Given the description of an element on the screen output the (x, y) to click on. 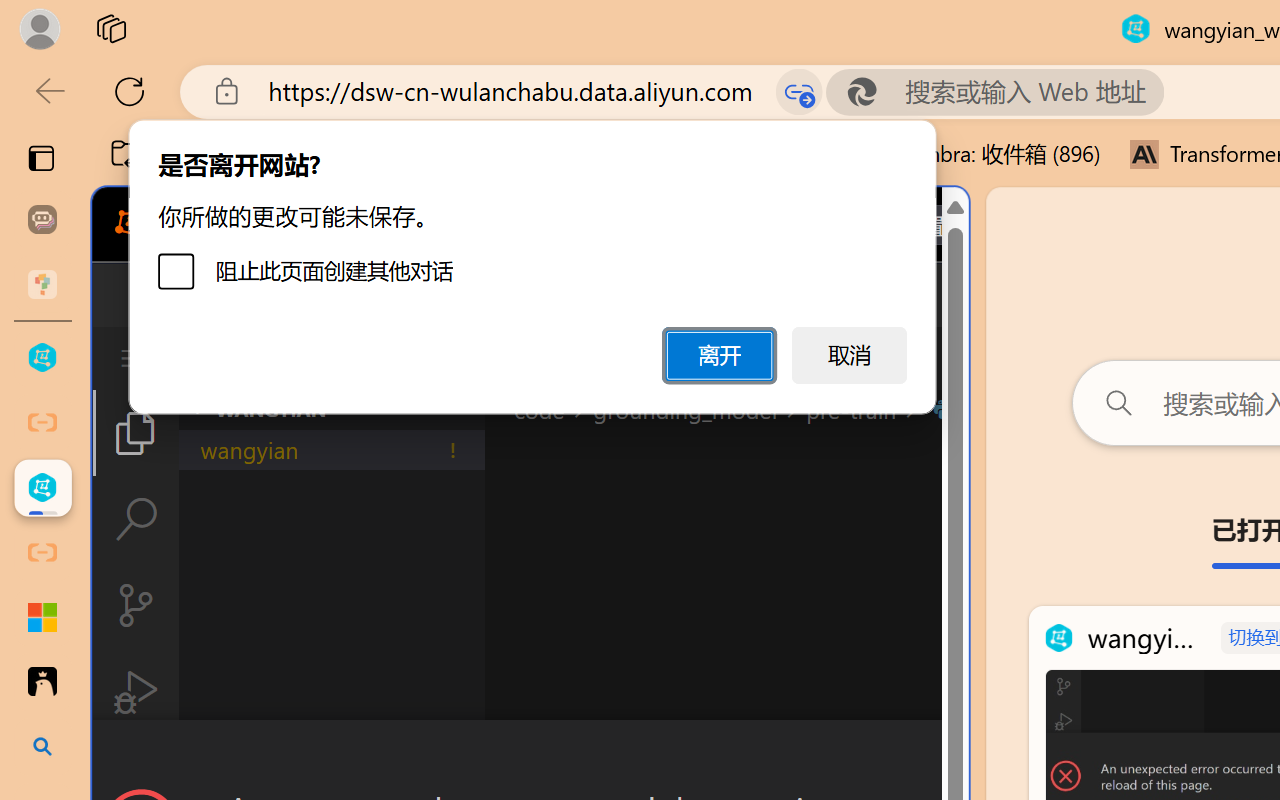
Class: actions-container (529, 756)
Run and Debug (Ctrl+Shift+D) (135, 692)
Close Dialog (959, 756)
Adjust indents and spacing - Microsoft Support (42, 617)
